Given the description of an element on the screen output the (x, y) to click on. 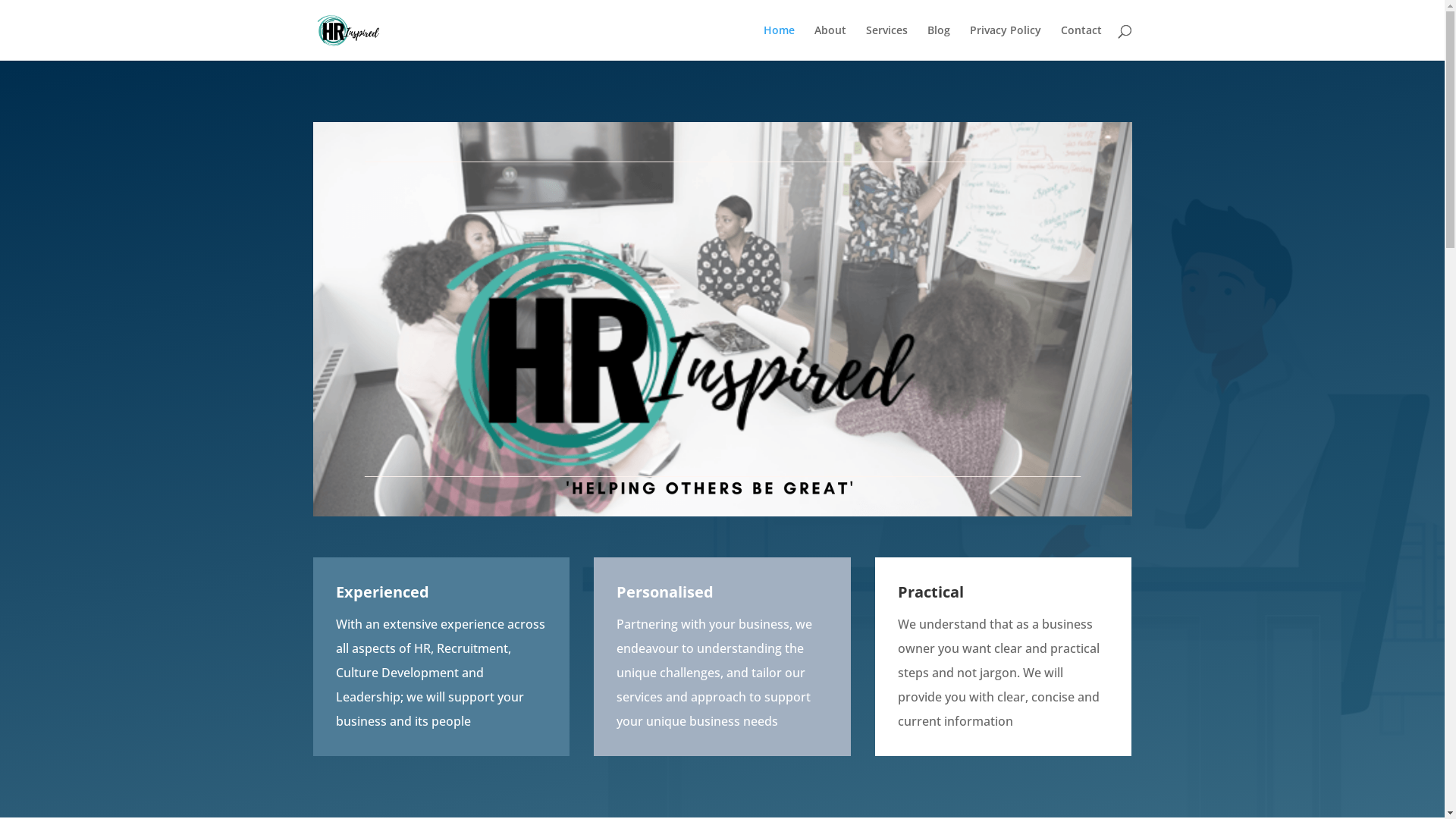
Services Element type: text (886, 42)
About Element type: text (830, 42)
Blog Element type: text (937, 42)
hnet.com-image Element type: hover (721, 319)
Privacy Policy Element type: text (1004, 42)
Home Element type: text (777, 42)
Contact Element type: text (1080, 42)
